Given the description of an element on the screen output the (x, y) to click on. 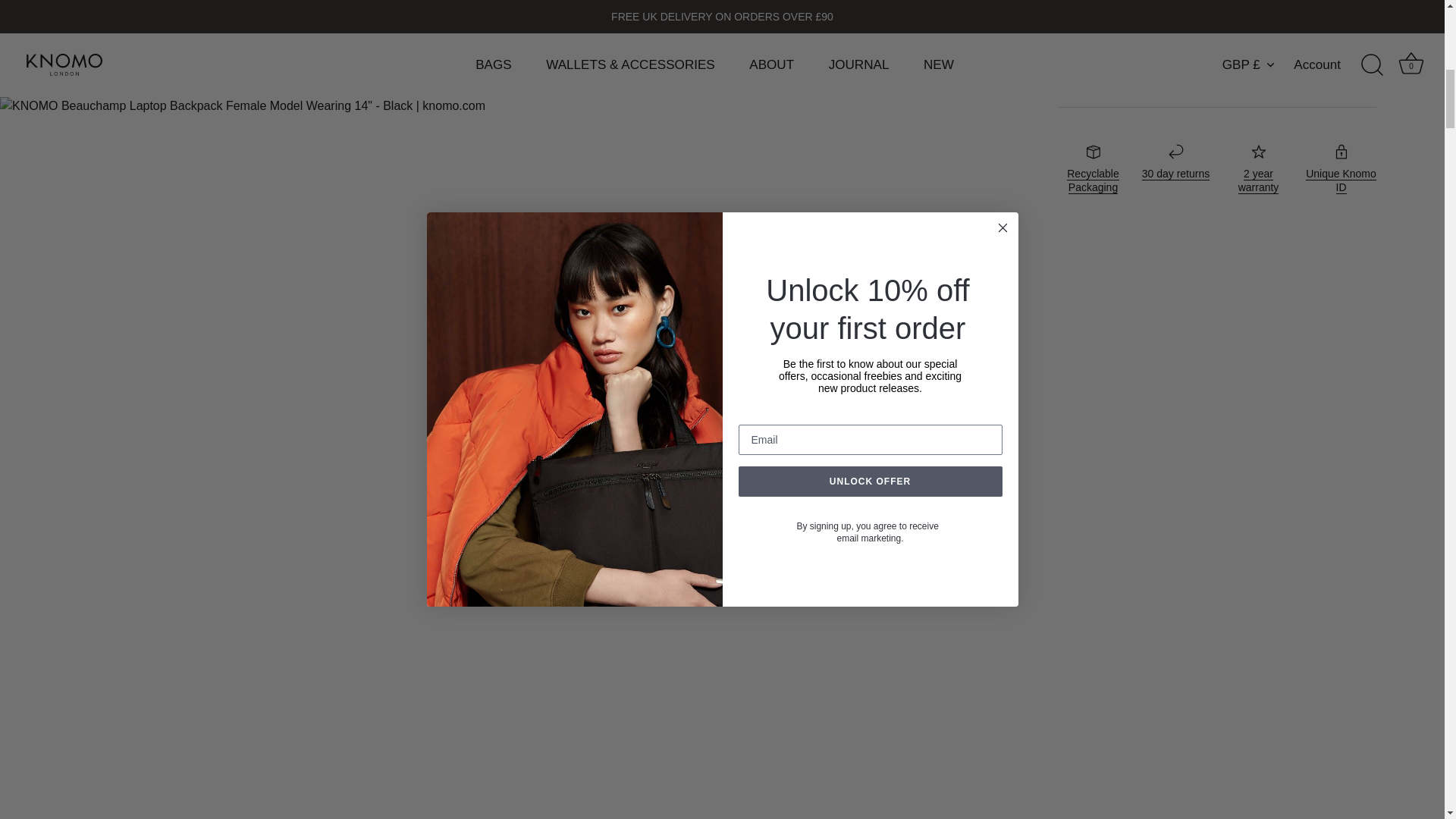
Register Your Knomo ID (1340, 180)
The New KNOMO Fully Recyclable Packaging (1092, 180)
